Given the description of an element on the screen output the (x, y) to click on. 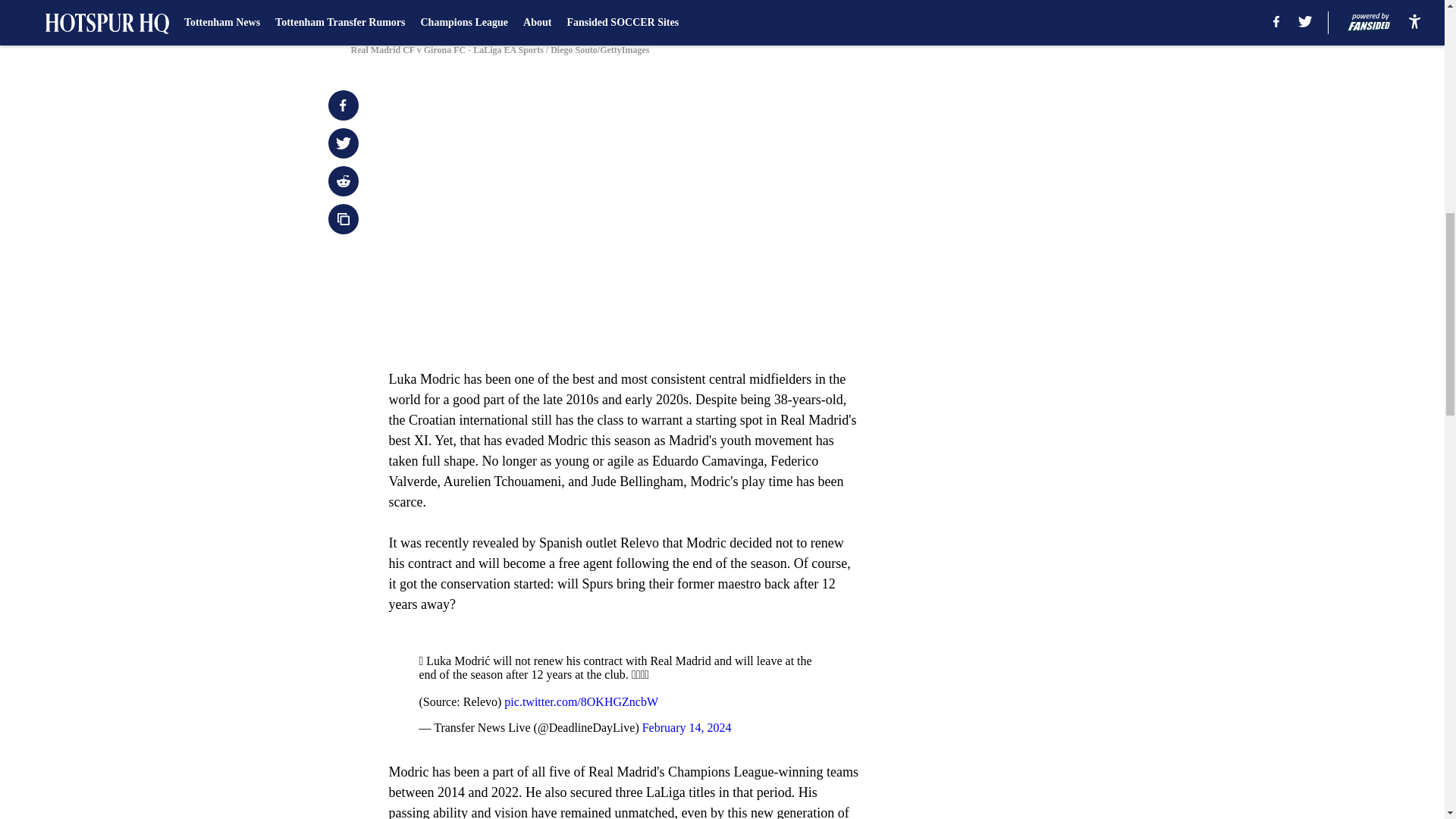
February 14, 2024 (687, 727)
Real Madrid CF v Girona FC - LaLiga EA Sports (721, 14)
